Given the description of an element on the screen output the (x, y) to click on. 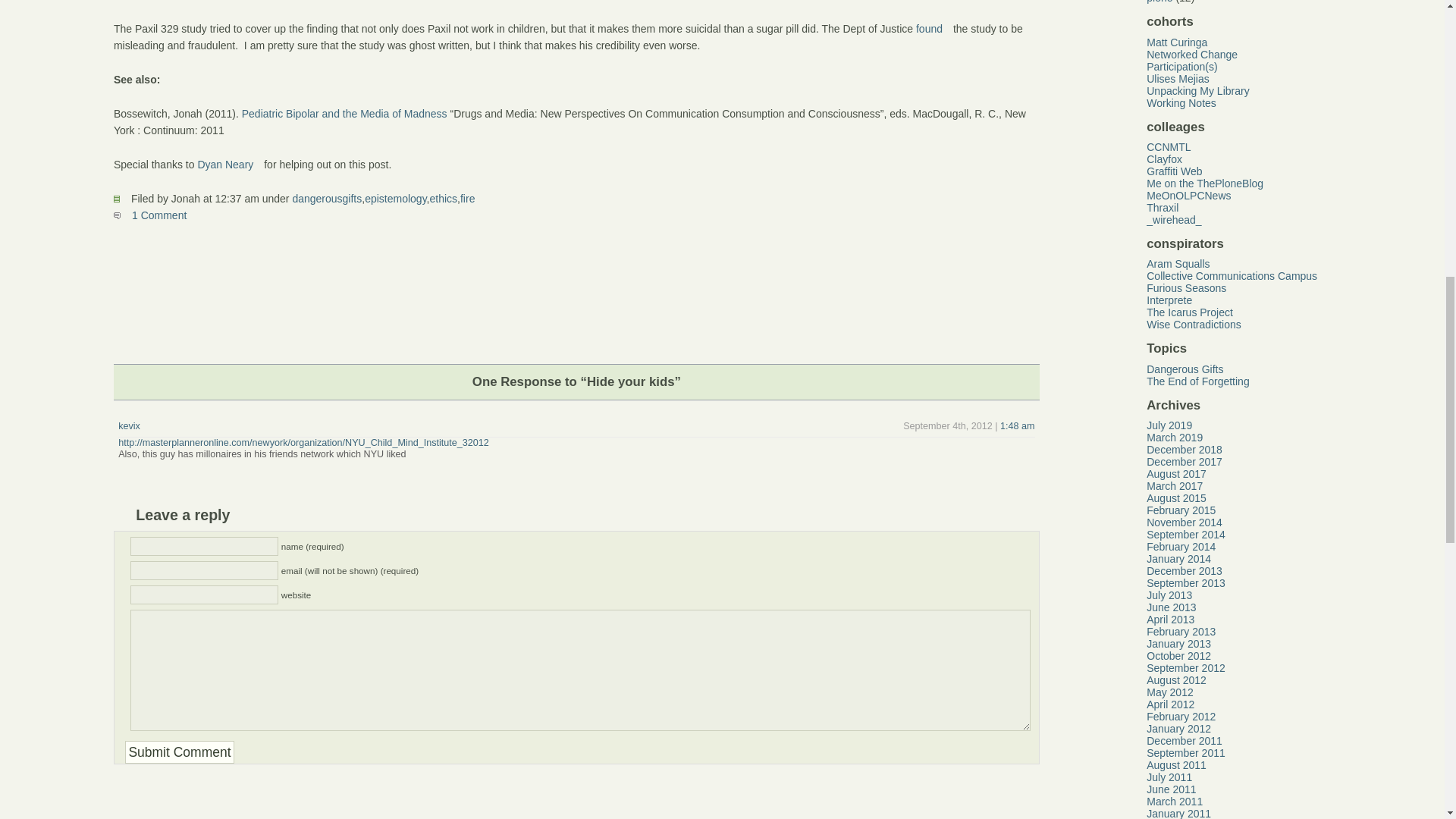
Submit Comment (179, 752)
kevix (128, 425)
dangerousgifts (326, 198)
fire (467, 198)
1:48 am (1017, 425)
Dyan Neary (228, 164)
Submit Comment (179, 752)
Pediatric Bipolar and the Media of Madness (343, 113)
ethics (443, 198)
found (932, 28)
